Given the description of an element on the screen output the (x, y) to click on. 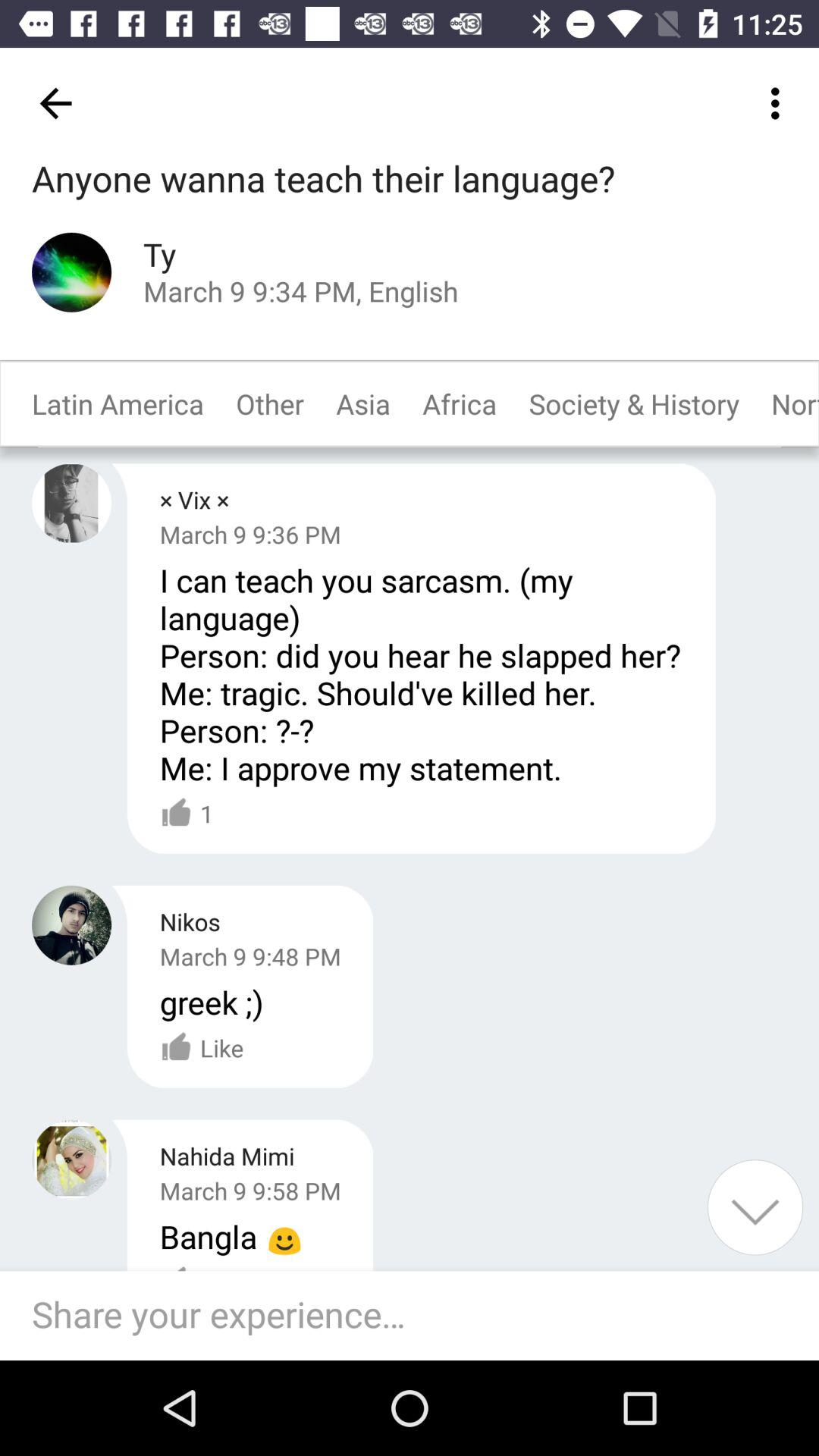
go to nikos profile (71, 925)
